Given the description of an element on the screen output the (x, y) to click on. 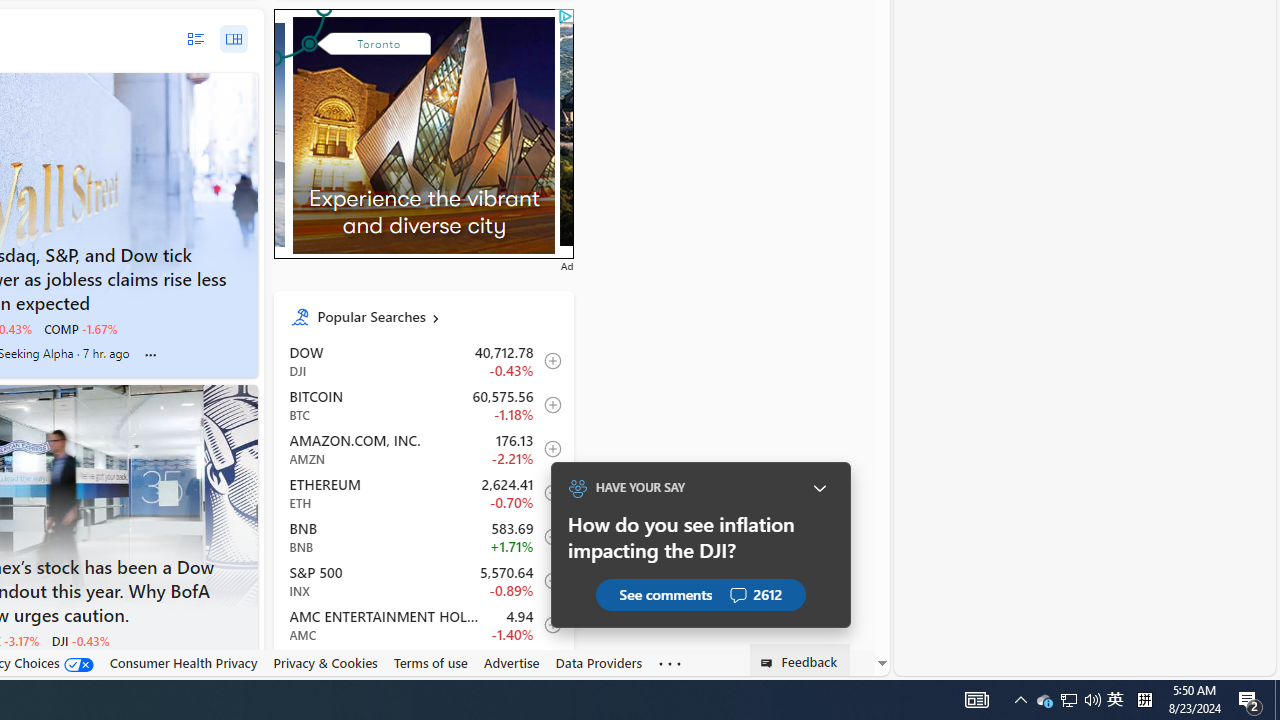
AutomationID: bg4 (708, 134)
Class: oneFooter_seeMore-DS-EntryPoint1-1 (669, 663)
AutomationID: brandLogo (416, 146)
AutomationID: tag (423, 132)
AutomationID: brandFlyLogo (423, 25)
DJI DOW decrease 40,712.78 -177.71 -0.43% itemundefined (422, 361)
